Given the description of an element on the screen output the (x, y) to click on. 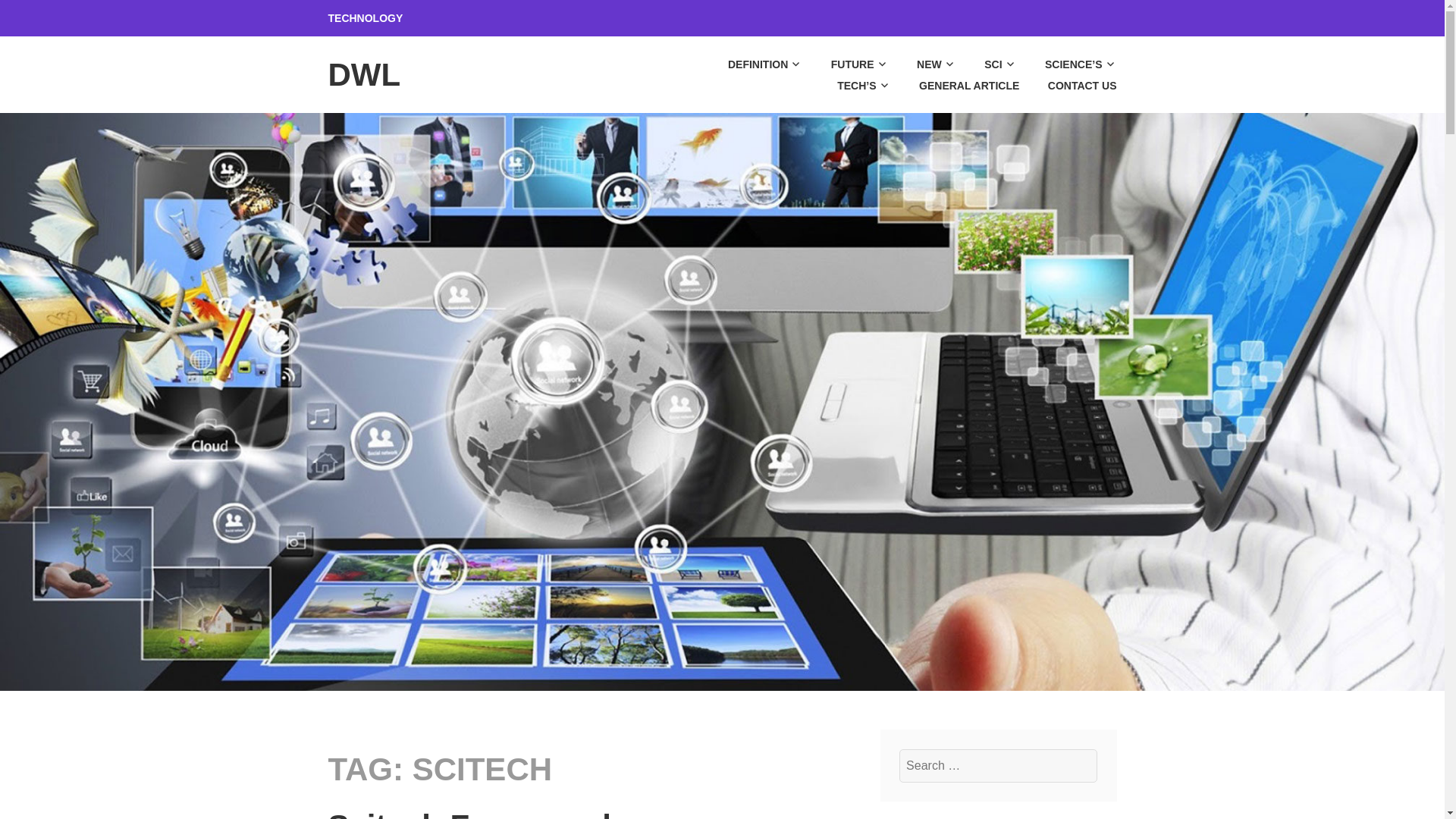
NEW (923, 64)
GENERAL ARTICLE (956, 85)
DEFINITION (751, 64)
SCI (987, 64)
FUTURE (846, 64)
Scitech Framework (473, 813)
CONTACT US (1069, 85)
DWL (363, 74)
